Given the description of an element on the screen output the (x, y) to click on. 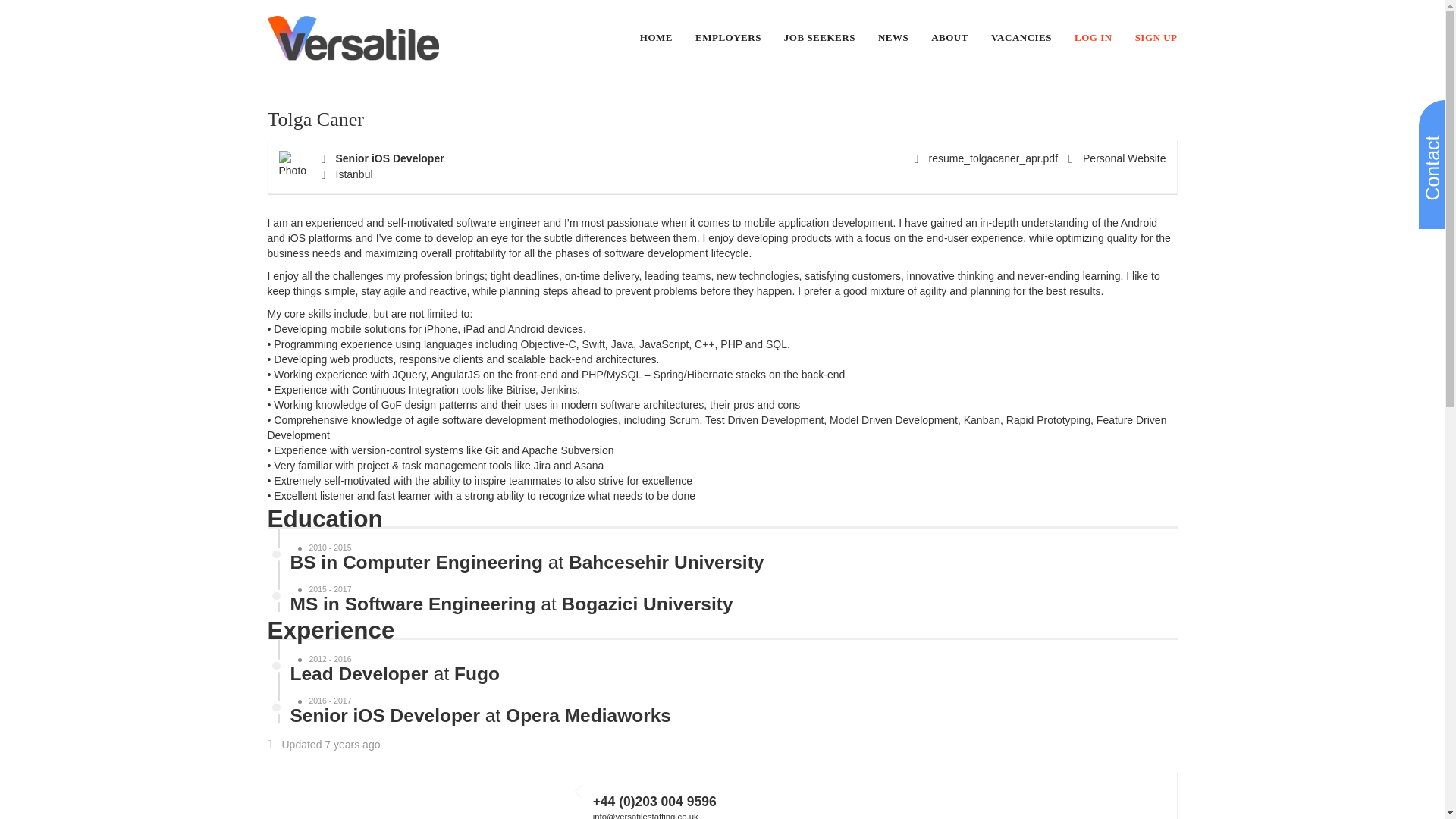
Tolga Caner (314, 119)
EMPLOYERS (728, 37)
Log In (1093, 37)
Personal Website (1117, 158)
HOME (656, 37)
SIGN UP (1156, 37)
LOG IN (1093, 37)
ABOUT (949, 37)
Sign Up (1156, 37)
JOB SEEKERS (820, 37)
